Given the description of an element on the screen output the (x, y) to click on. 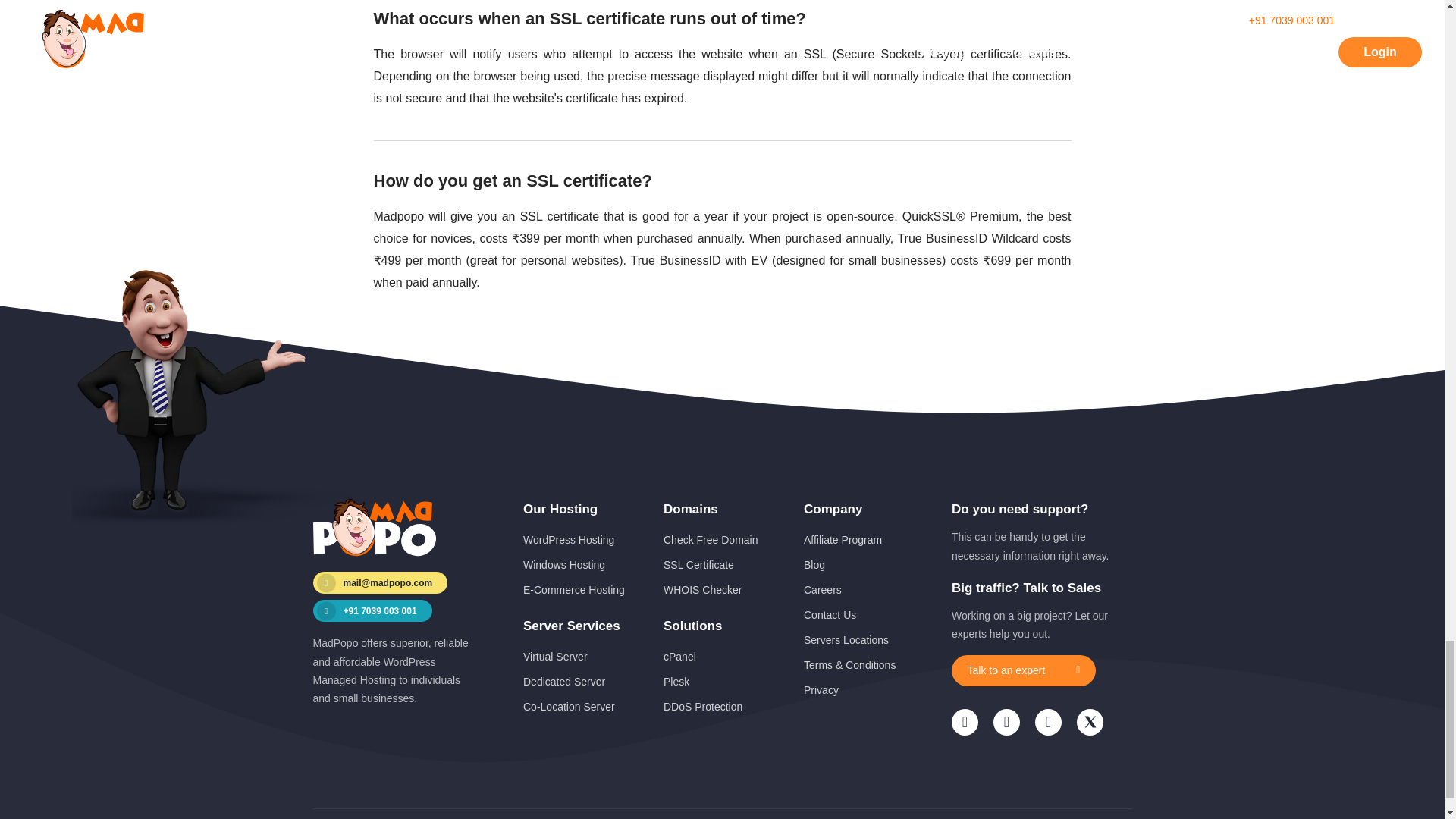
E-Commerce Hosting (573, 589)
Virtual Server (555, 656)
WordPress Hosting (568, 539)
Windows Hosting (563, 564)
